Given the description of an element on the screen output the (x, y) to click on. 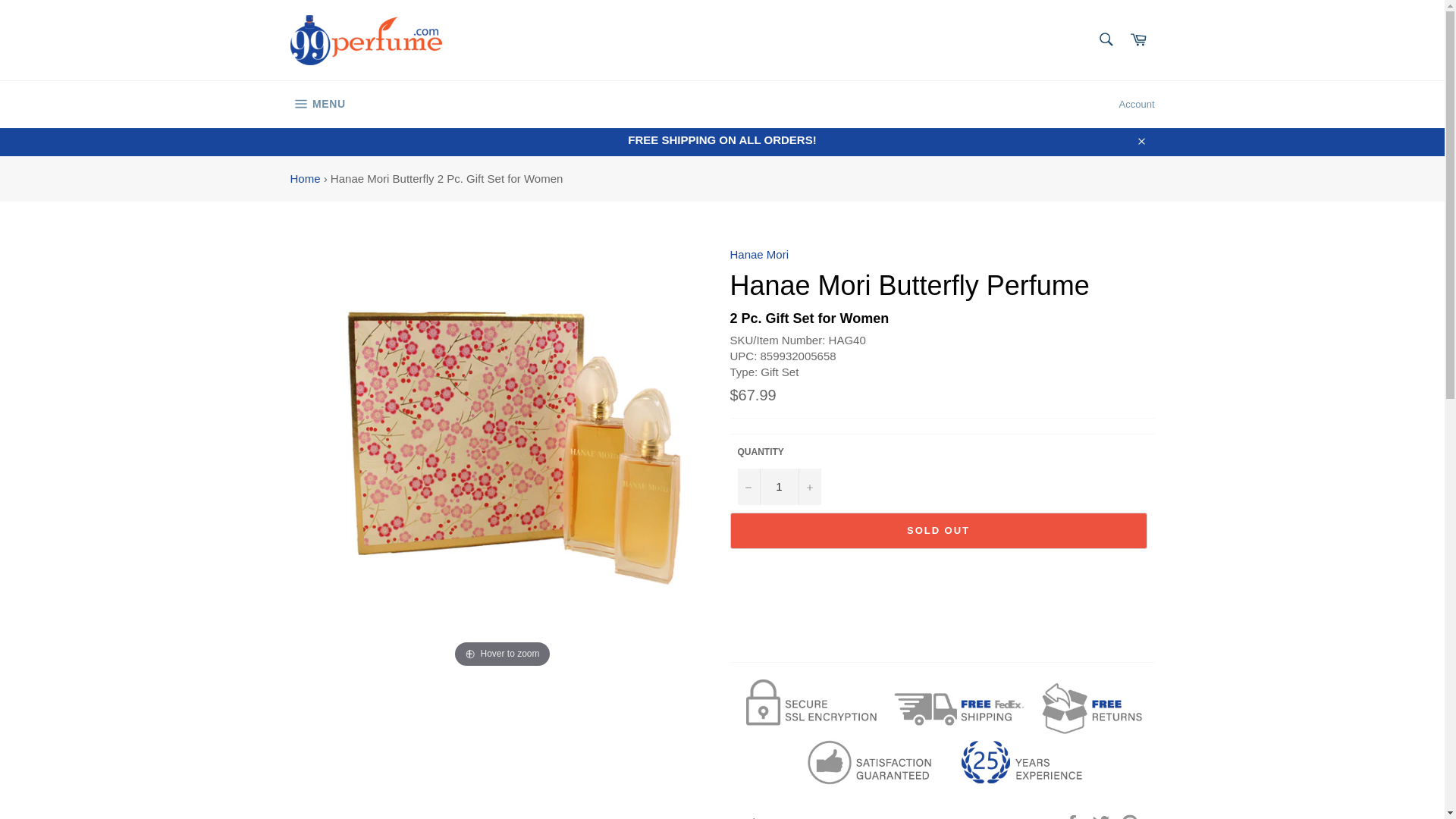
Share on Facebook (1073, 816)
Pin on Pinterest (1129, 816)
Tweet on Twitter (1102, 816)
All products by Hanae Mori (759, 254)
1 (778, 486)
Home (304, 178)
